Given the description of an element on the screen output the (x, y) to click on. 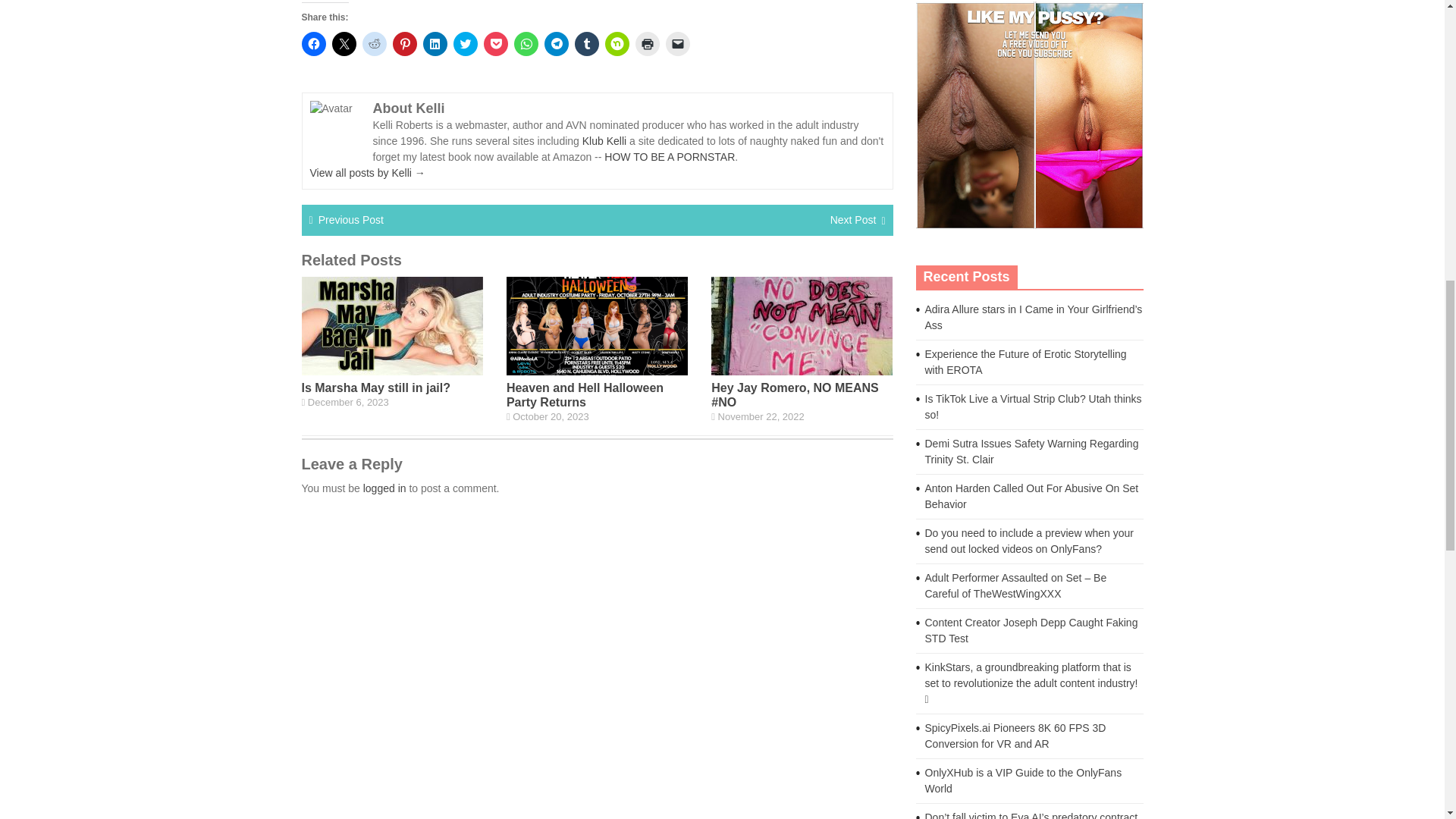
Click to share on Nextdoor (616, 43)
Click to share on Reddit (374, 43)
Click to share on Pocket (495, 43)
Click to print (646, 43)
Click to share on WhatsApp (525, 43)
Click to share on Pinterest (404, 43)
Click to share on Telegram (556, 43)
Click to share on LinkedIn (434, 43)
Click to share on Tumblr (586, 43)
Click to share on Twitter (464, 43)
